Given the description of an element on the screen output the (x, y) to click on. 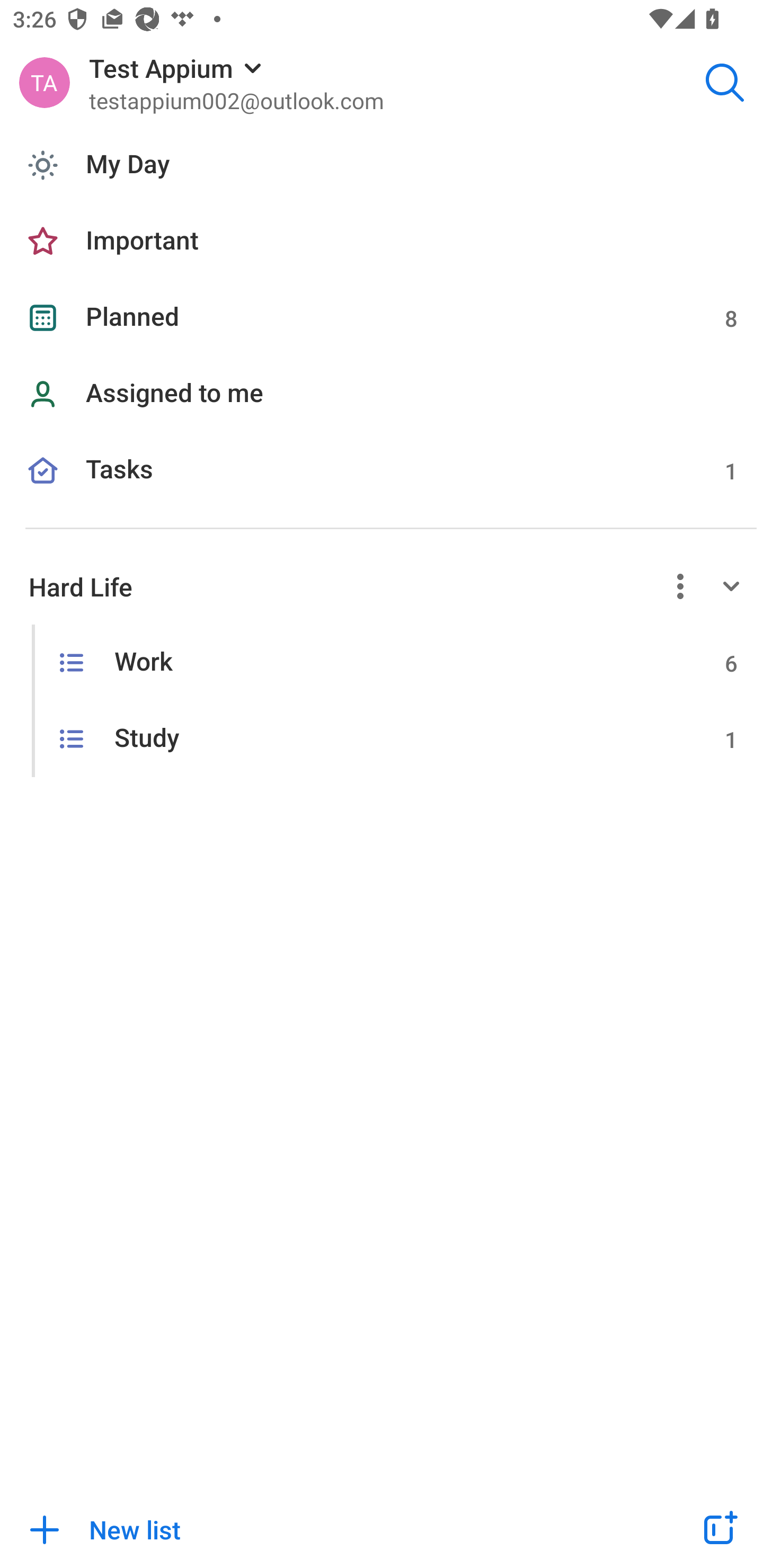
My Day, 0 tasks My Day (381, 165)
